Given the description of an element on the screen output the (x, y) to click on. 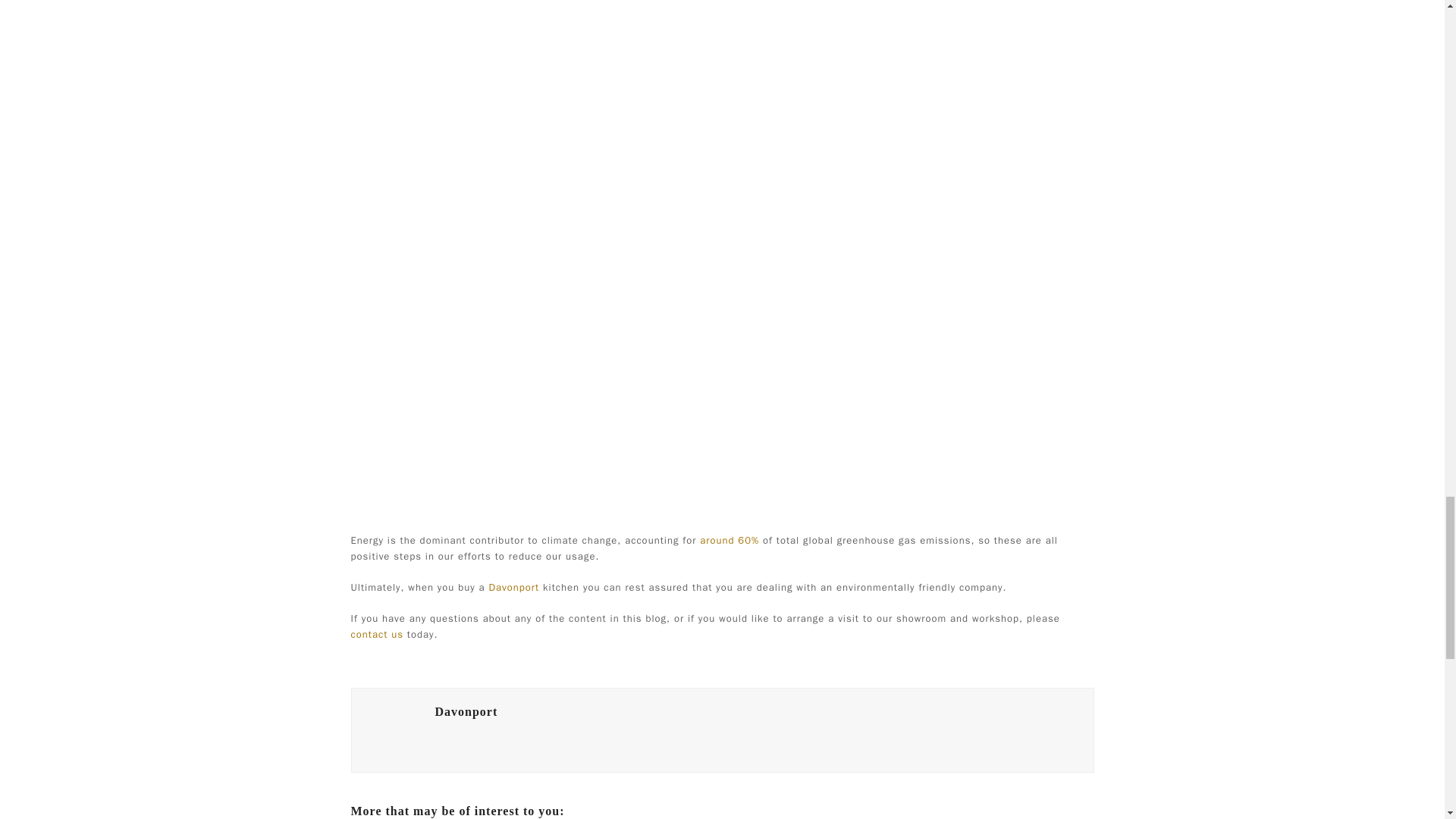
Visit Author Page (466, 711)
Visit Author Page (393, 729)
Davonport (514, 586)
Davonport (466, 711)
contact us (376, 634)
